Given the description of an element on the screen output the (x, y) to click on. 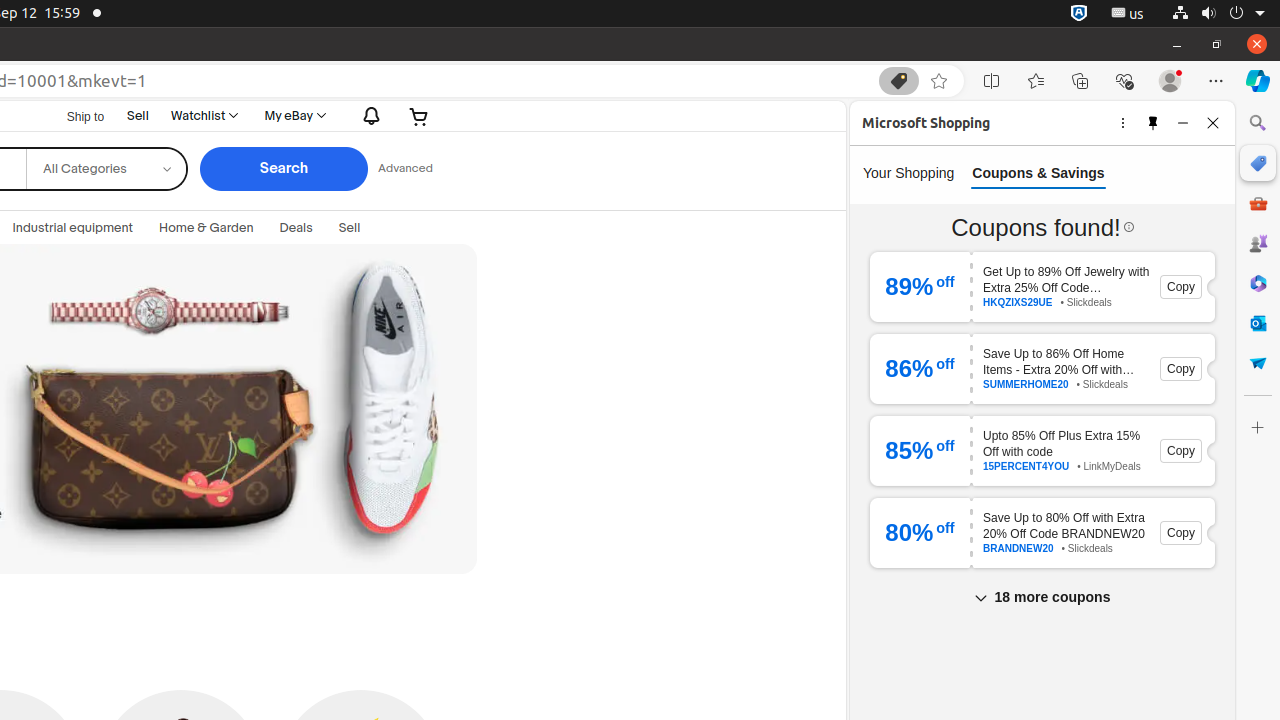
Customize Element type: push-button (1258, 428)
Your shopping cart Element type: link (419, 116)
Split screen Element type: push-button (992, 81)
Watchlist Element type: link (203, 115)
Tools Element type: push-button (1258, 202)
